Given the description of an element on the screen output the (x, y) to click on. 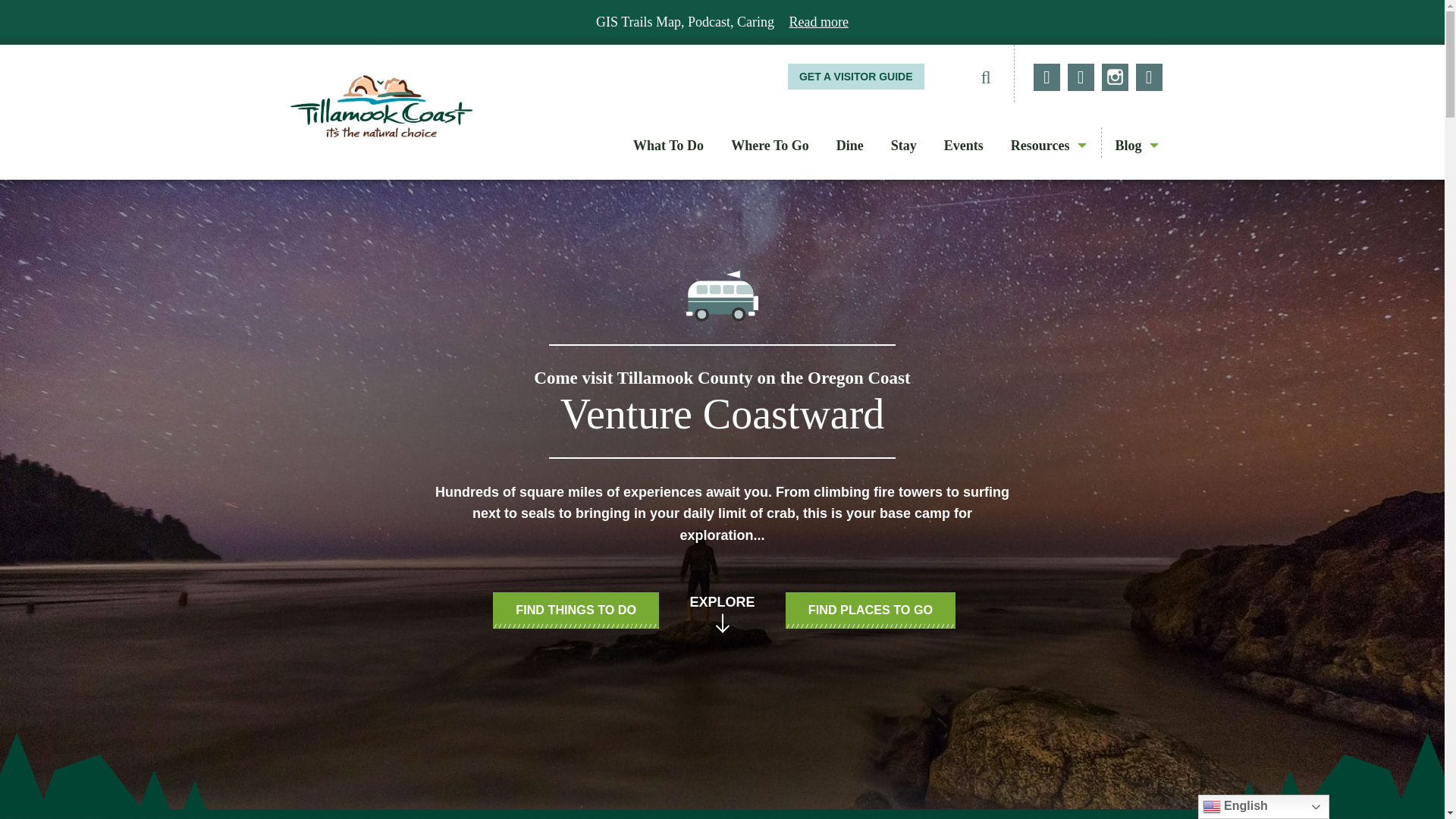
GET A VISITOR GUIDE (855, 76)
What To Do (668, 145)
facebook (1046, 76)
Events (963, 145)
instagram (1115, 76)
Blog (1130, 145)
youtube (1148, 76)
Resources (1043, 145)
Dine (849, 145)
Where To Go (769, 145)
twitter (1080, 76)
Stay (903, 145)
Read more (818, 21)
